Given the description of an element on the screen output the (x, y) to click on. 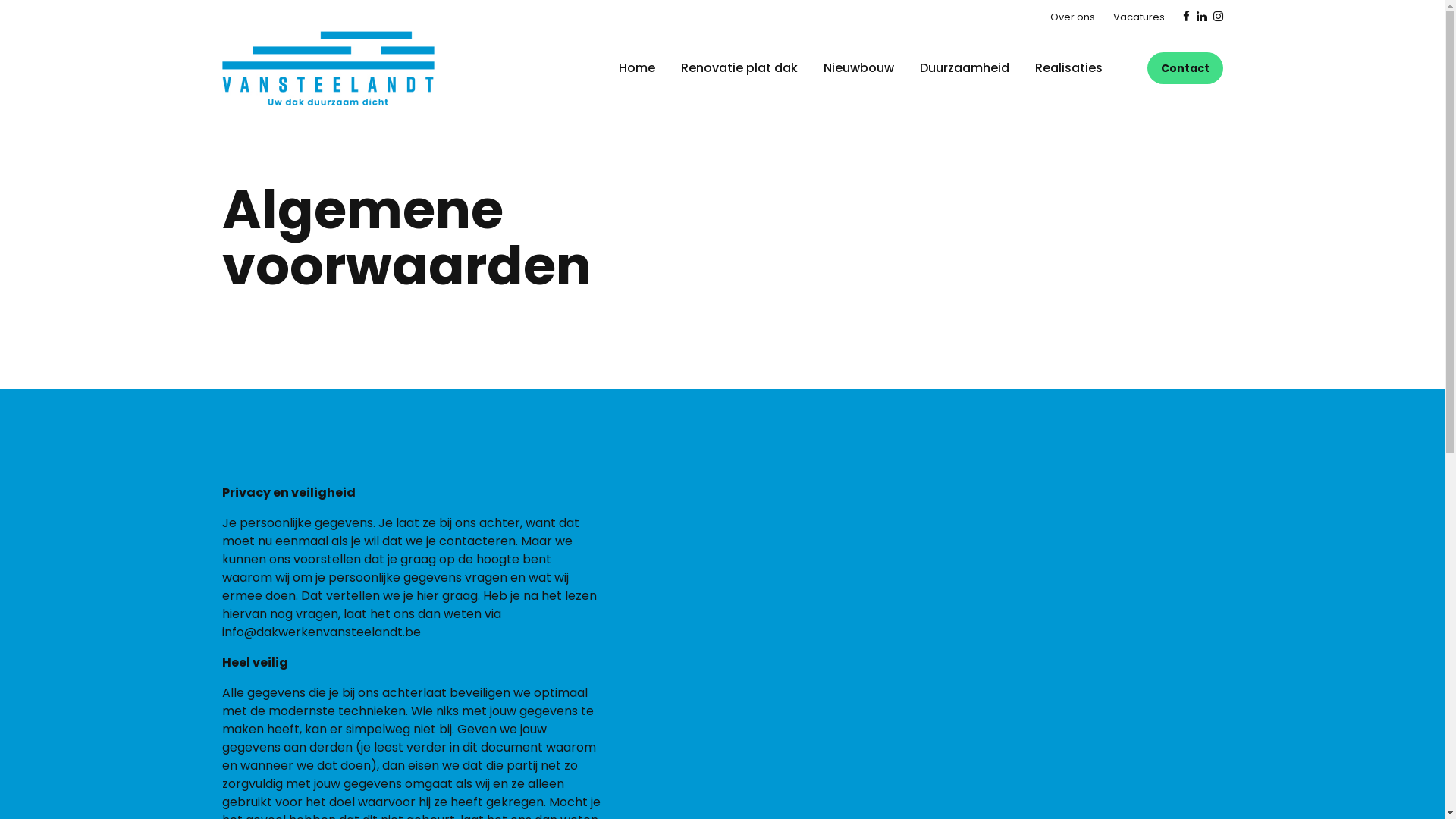
Renovatie plat dak Element type: text (740, 67)
Over ons Element type: text (1079, 16)
Duurzaamheid Element type: text (965, 67)
Realisaties Element type: text (1069, 67)
Home Element type: text (638, 67)
Vacatures Element type: text (1146, 16)
Nieuwbouw Element type: text (860, 67)
Contact Element type: text (1184, 68)
